Given the description of an element on the screen output the (x, y) to click on. 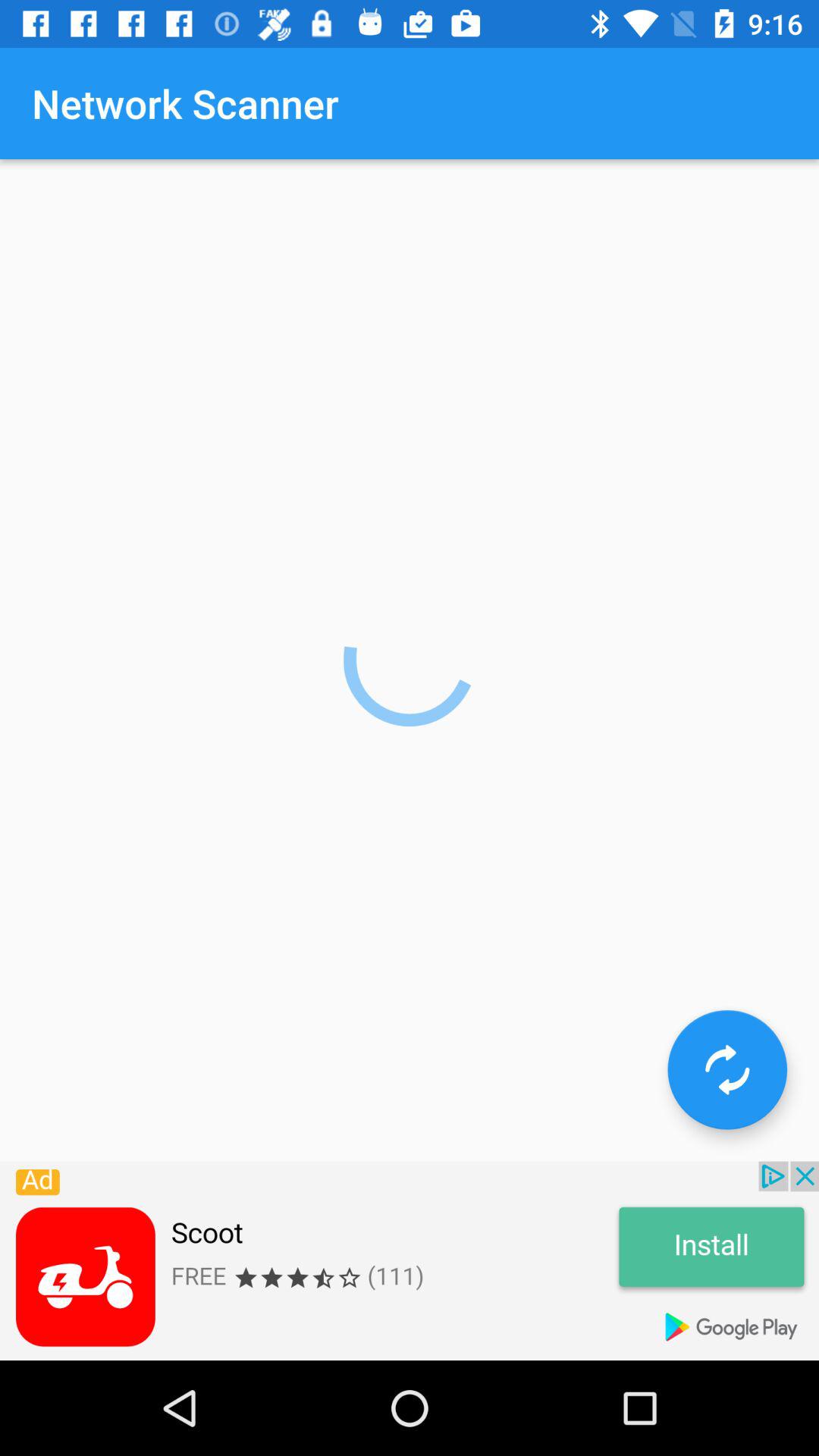
refresh (727, 1069)
